Given the description of an element on the screen output the (x, y) to click on. 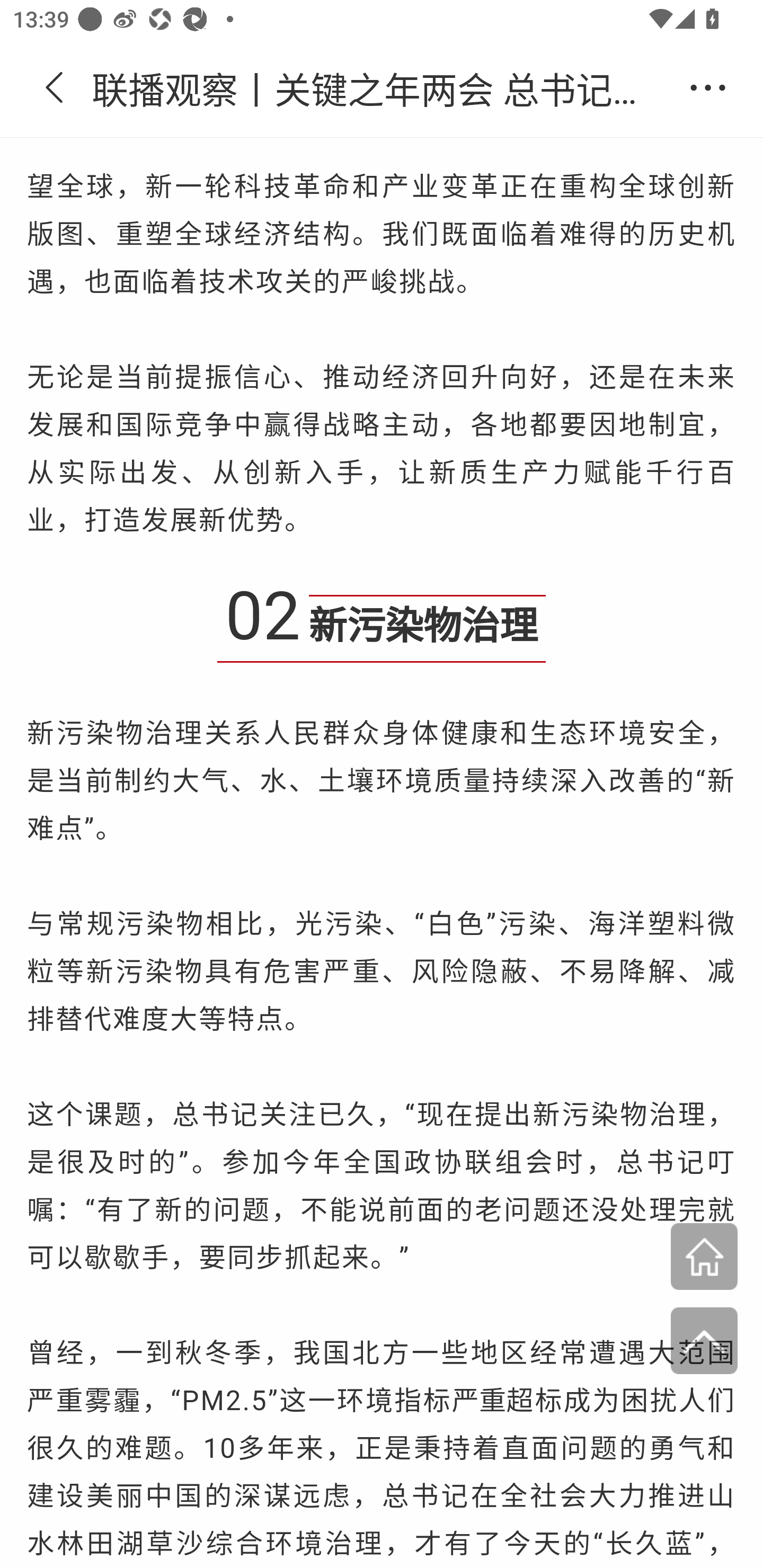
联播观察丨关键之年两会 总书记关注这三“新” (381, 87)
 返回 (54, 87)
 更多 (707, 87)
www.cctv (703, 1257)
